Given the description of an element on the screen output the (x, y) to click on. 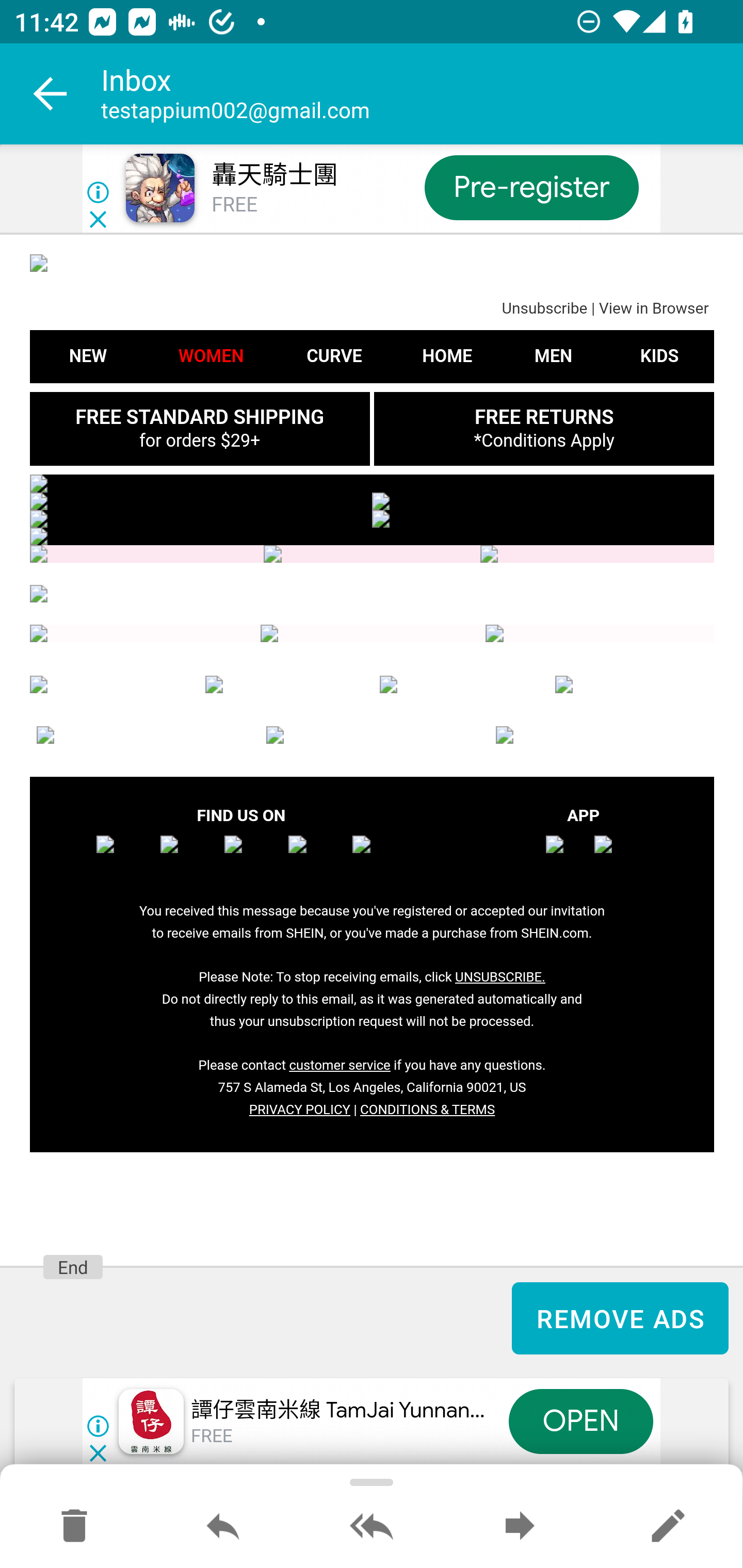
Navigate up (50, 93)
Inbox testappium002@gmail.com (422, 93)
Pre-register (530, 187)
轟天騎士團 (274, 175)
FREE (234, 204)
SHEIN (371, 262)
Unsubscribe (544, 309)
View in Browser (653, 309)
NEW (88, 356)
WOMEN (210, 356)
CURVE (333, 356)
HOME (446, 356)
MEN (553, 356)
KIDS (659, 356)
FREE STANDARD SHIPPING (199, 416)
FREE RETURNS (543, 416)
for orders $29+ (199, 440)
*Conditions Apply (544, 440)
SHOP THE SALE (371, 482)
SHOP NOW (200, 500)
SHOP NOW (543, 500)
SHOP NOW (200, 518)
SHOP NOW (543, 518)
SHOP WIGS, GET GIFTS (371, 536)
Shop By Wig Type (146, 554)
Shop By Wig Type (371, 554)
Shop By Wig Type (596, 554)
JOIN THE COMMUNITY (371, 594)
Find Us On Social (144, 634)
Find Us On Social (373, 634)
Find Us On Social (598, 634)
WOMEN (108, 684)
CURVE (284, 684)
MEN (458, 684)
KIDS (634, 684)
SHEIN CLUB (142, 734)
CONTACT PREFERENCES (371, 734)
SHEIN E-GIFT CARD (601, 734)
facebook (125, 856)
instagram (188, 856)
twitter (253, 856)
youtube (316, 856)
pinterest (380, 856)
apple (566, 856)
google (615, 856)
UNSUBSCRIBE. UNSUBSCRIBE . (499, 977)
customer service (340, 1066)
PRIVACY POLICY (299, 1109)
CONDITIONS & TERMS (427, 1109)
REMOVE ADS (619, 1318)
OPEN (580, 1421)
譚仔雲南米線 TamJai Yunnan… (337, 1410)
FREE (212, 1436)
Move to Deleted (74, 1527)
Reply (222, 1527)
Reply all (371, 1527)
Forward (519, 1527)
Reply as new (667, 1527)
